Given the description of an element on the screen output the (x, y) to click on. 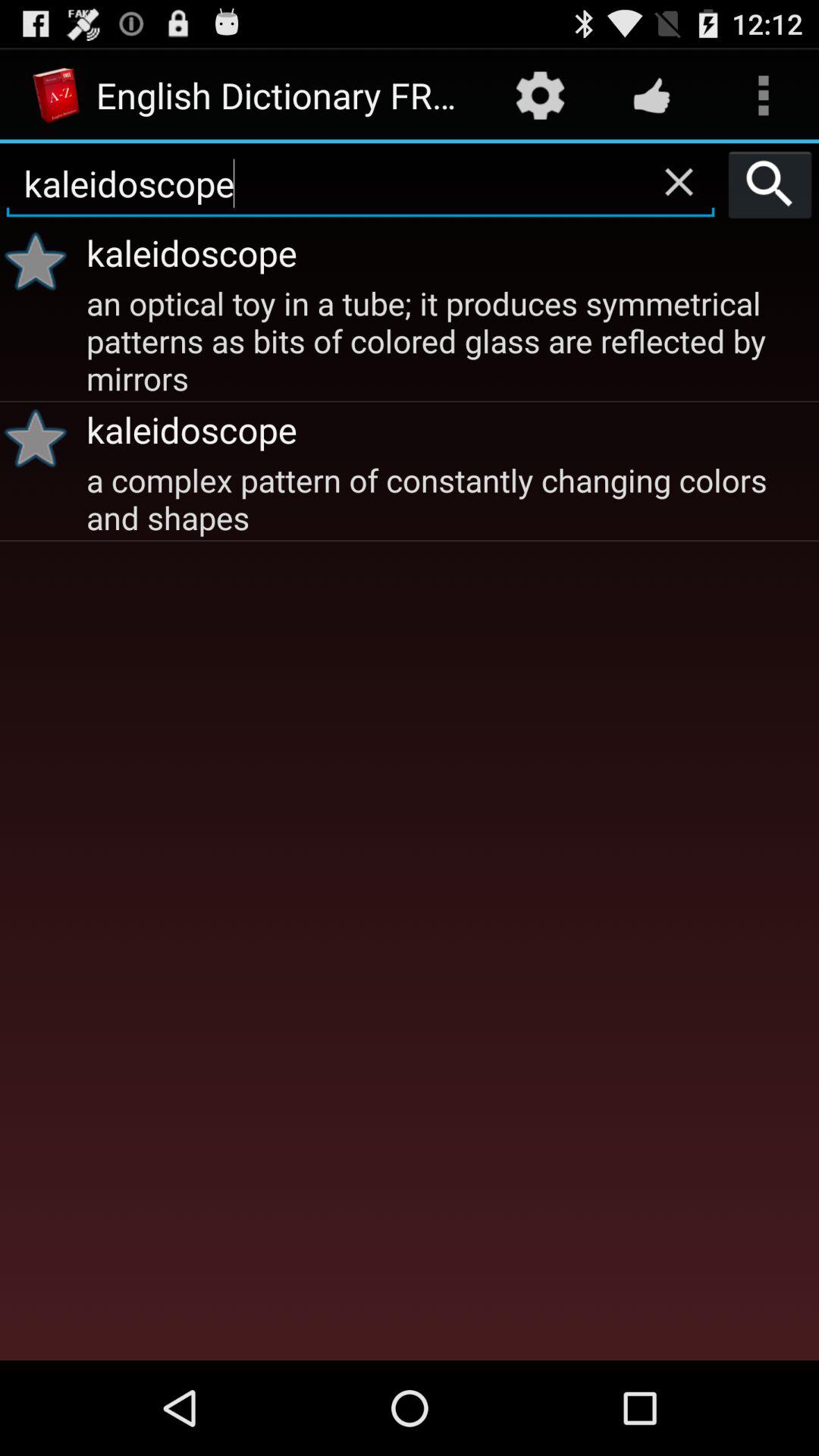
select the item below an optical toy (41, 437)
